Given the description of an element on the screen output the (x, y) to click on. 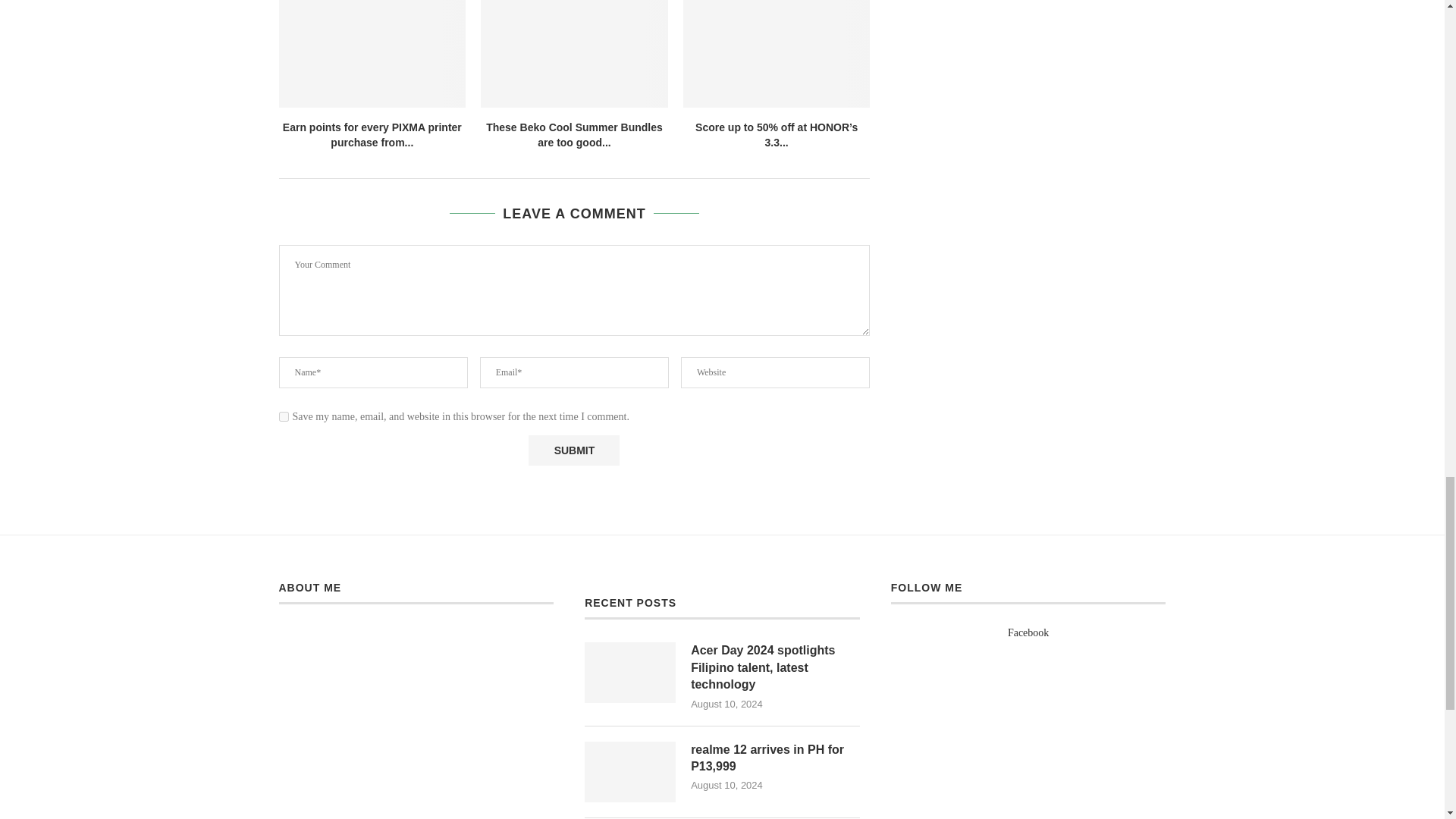
Submit (574, 450)
realme 12 arrives in PH for P13,999 (630, 772)
These Beko Cool Summer Bundles are too good to miss (574, 53)
Acer Day 2024 spotlights Filipino talent, latest technology (775, 667)
Acer Day 2024 spotlights Filipino talent, latest technology (630, 672)
yes (283, 416)
